Given the description of an element on the screen output the (x, y) to click on. 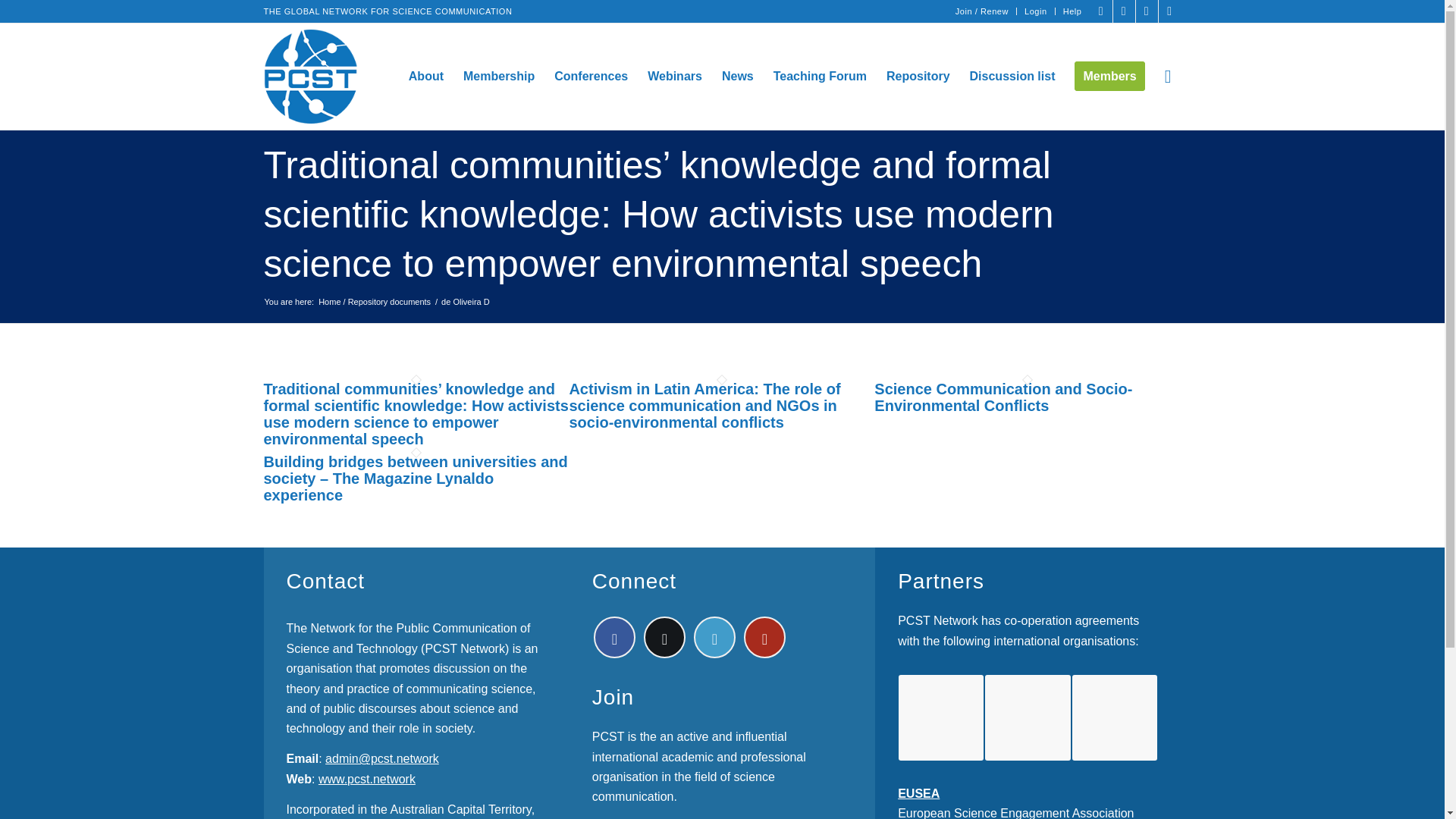
Facebook (1101, 11)
LinkedIn (1146, 11)
Science Communication and Socio-Environmental Conflicts (1003, 397)
Youtube (1169, 11)
Help (1071, 11)
X (1124, 11)
Teaching Forum (819, 76)
PCST Network (373, 294)
Login (1035, 11)
